Given the description of an element on the screen output the (x, y) to click on. 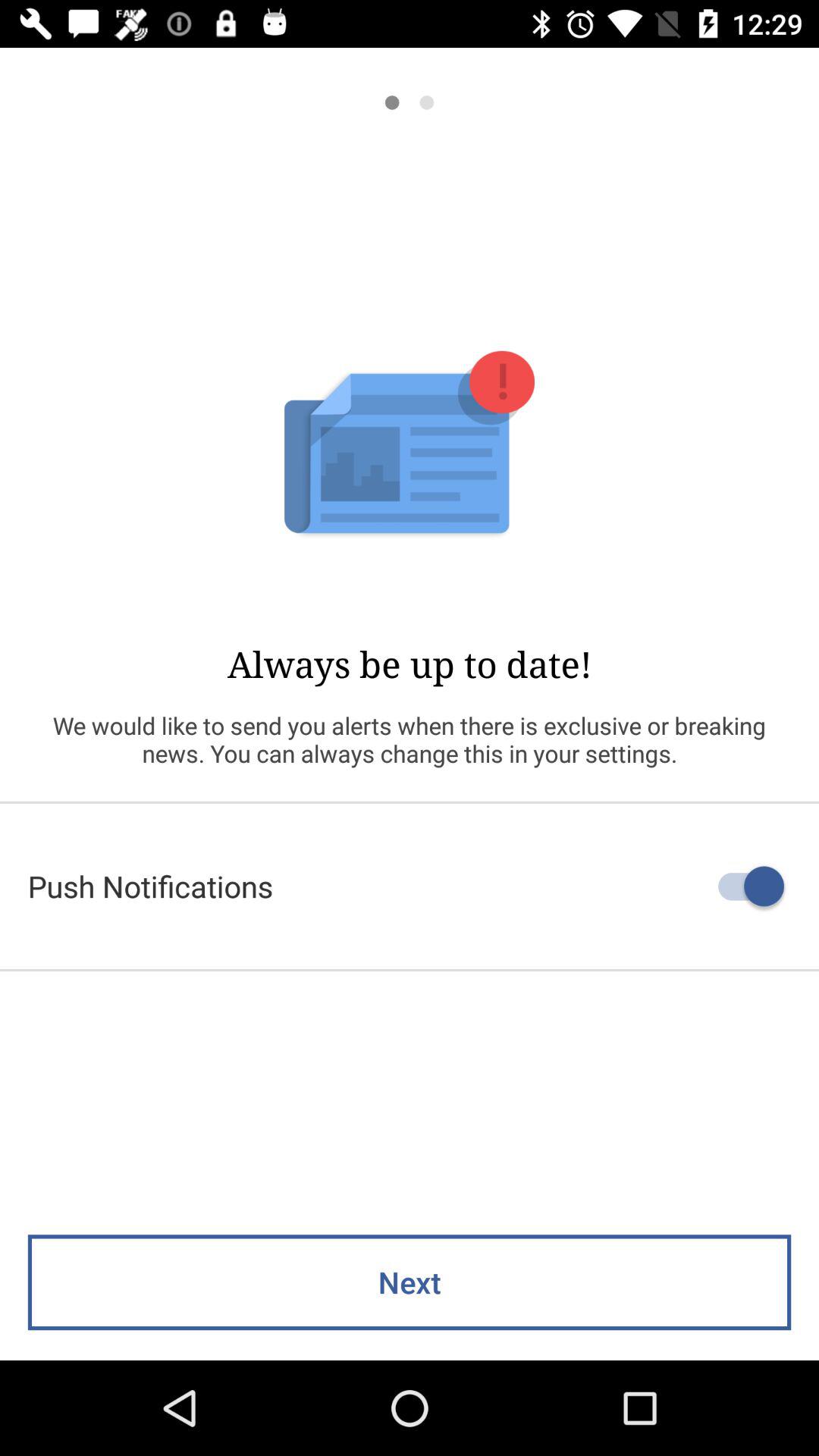
turn on next icon (409, 1282)
